Given the description of an element on the screen output the (x, y) to click on. 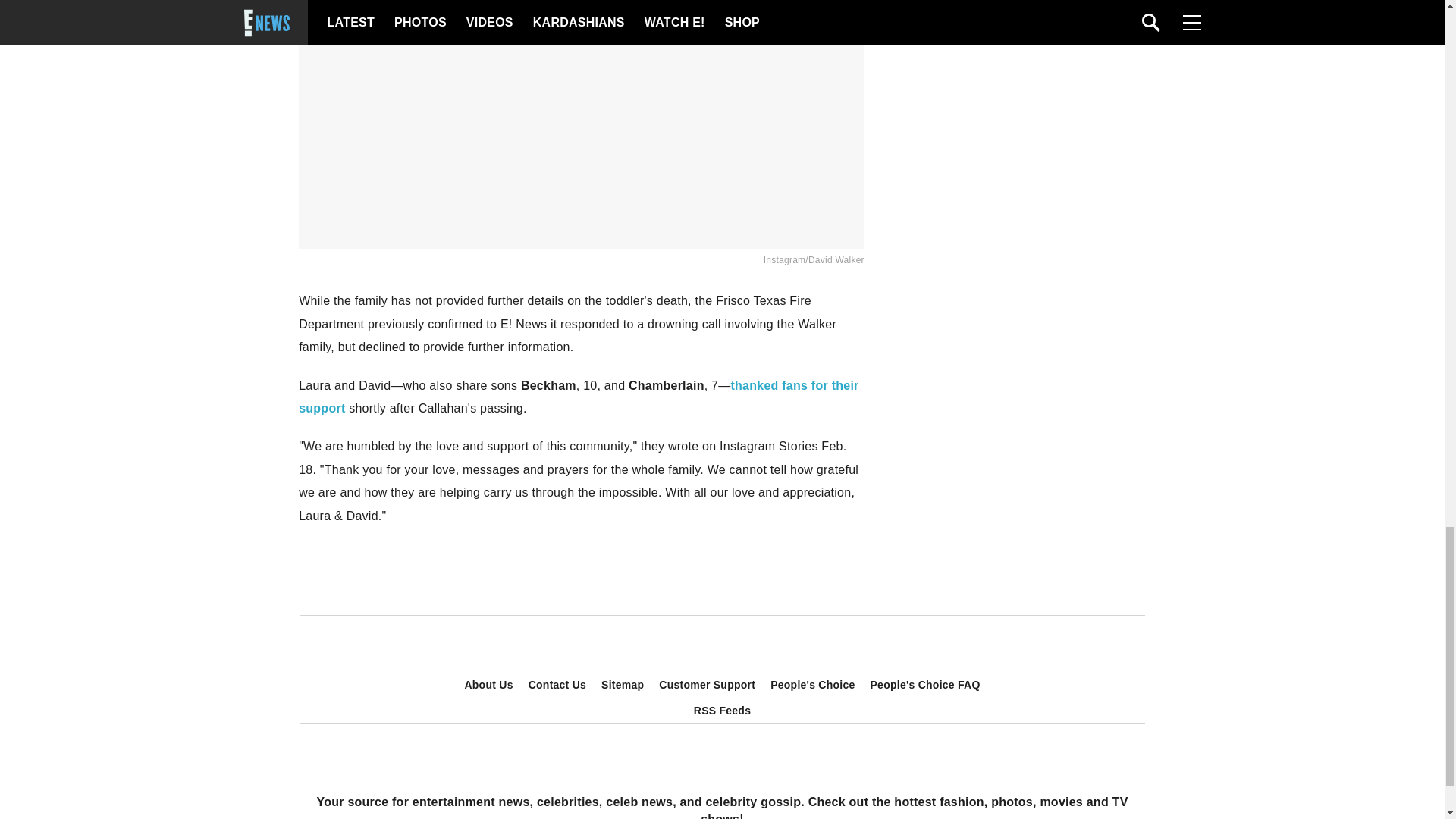
thanked fans for their support (578, 396)
